Given the description of an element on the screen output the (x, y) to click on. 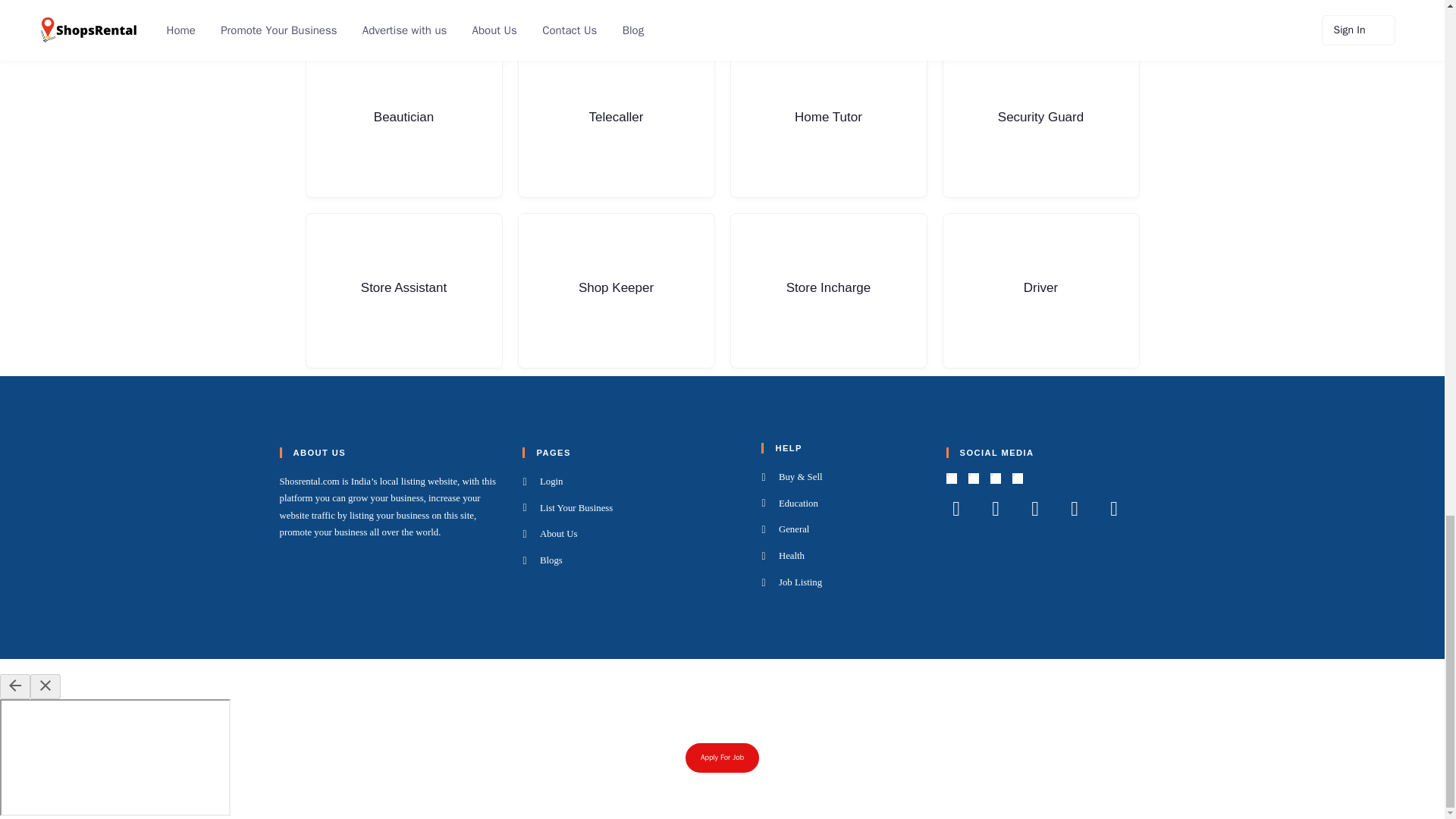
Home Tutor (827, 120)
List Your Business (631, 508)
Education (843, 504)
Store Incharge (827, 290)
Telecaller (615, 120)
Job Listing (843, 583)
Security Guard (1040, 120)
About Us (631, 534)
Shop Keeper (615, 290)
Driver (1040, 290)
